Given the description of an element on the screen output the (x, y) to click on. 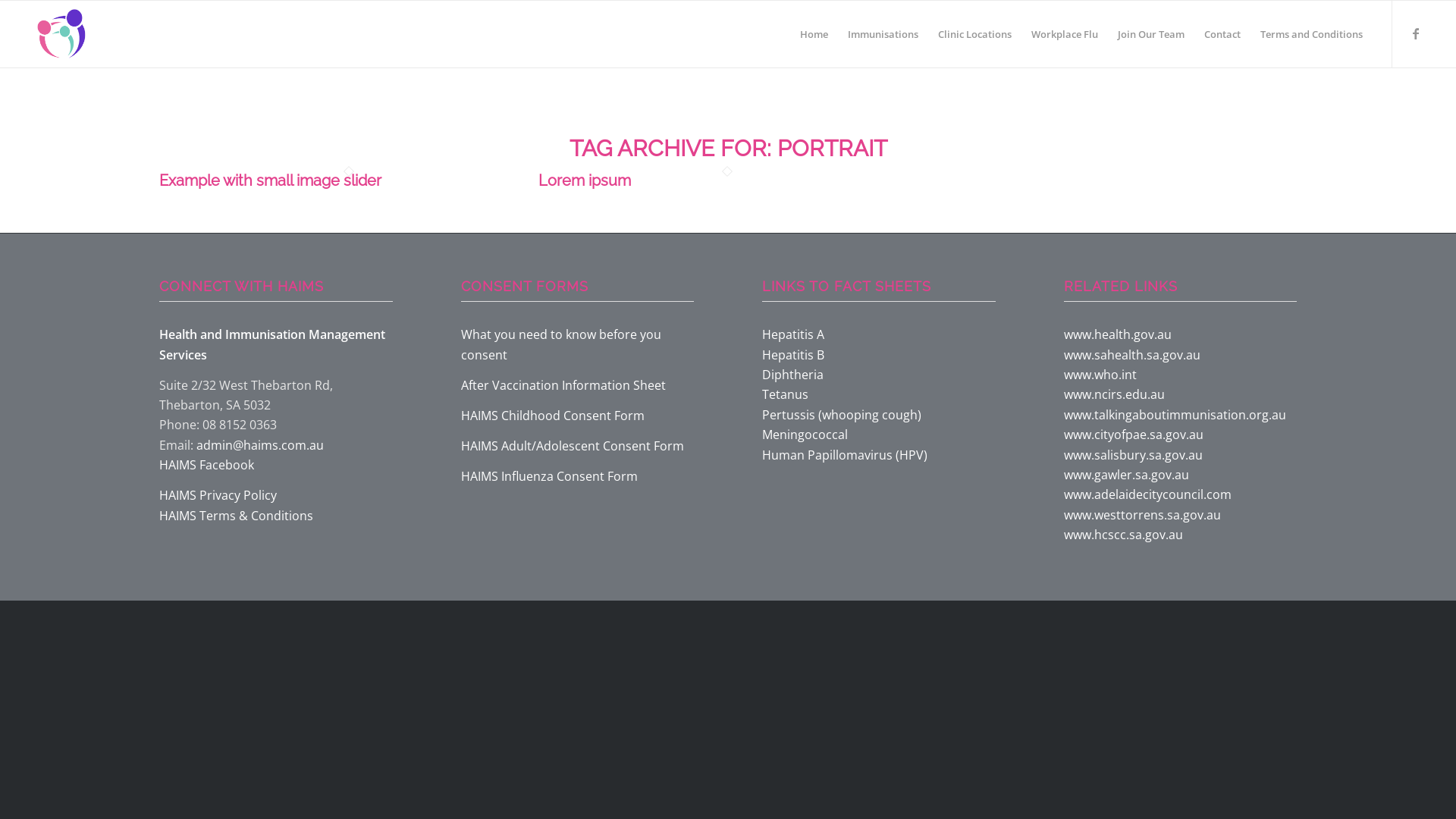
After Vaccination Information Sheet Element type: text (563, 384)
HAIMS Childhood Consent Form Element type: text (552, 415)
Hepatitis A Element type: text (793, 334)
Diphtheria Element type: text (792, 374)
logo_shrunk Element type: hover (61, 33)
Hepatitis B Element type: text (793, 354)
Lorem ipsum Element type: text (584, 180)
Join Our Team Element type: text (1150, 33)
Facebook Element type: hover (1415, 32)
Workplace Flu Element type: text (1064, 33)
HAIMS Facebook Element type: text (206, 464)
HAIMS Adult/Adolescent Consent Form Element type: text (572, 445)
Contact Element type: text (1222, 33)
HAIMS Influenza Consent Form Element type: text (549, 475)
www.who.int Element type: text (1099, 374)
HAIMS Terms & Conditions Element type: text (236, 515)
What you need to know before you consent Element type: text (561, 344)
Terms and Conditions Element type: text (1311, 33)
Clinic Locations Element type: text (974, 33)
Meningococcal Element type: text (804, 434)
www.ncirs.edu.au Element type: text (1113, 393)
HAIMS Privacy Policy Element type: text (217, 494)
admin@haims.com.au Element type: text (259, 444)
www.hcscc.sa.gov.au Element type: text (1122, 534)
www.westtorrens.sa.gov.au Element type: text (1141, 514)
www.sahealth.sa.gov.au Element type: text (1131, 354)
www.talkingaboutimmunisation.org.au Element type: text (1174, 414)
www.salisbury.sa.gov.au Element type: text (1132, 454)
Home Element type: text (813, 33)
www.adelaidecitycouncil.com Element type: text (1146, 494)
Example with small image slider Element type: text (270, 180)
Human Papillomavirus (HPV) Element type: text (844, 454)
Immunisations Element type: text (882, 33)
www.health.gov.au Element type: text (1116, 334)
Tetanus Element type: text (785, 393)
www.cityofpae.sa.gov.au Element type: text (1132, 434)
www.gawler.sa.gov.au Element type: text (1125, 474)
Pertussis (whooping cough) Element type: text (841, 414)
